Given the description of an element on the screen output the (x, y) to click on. 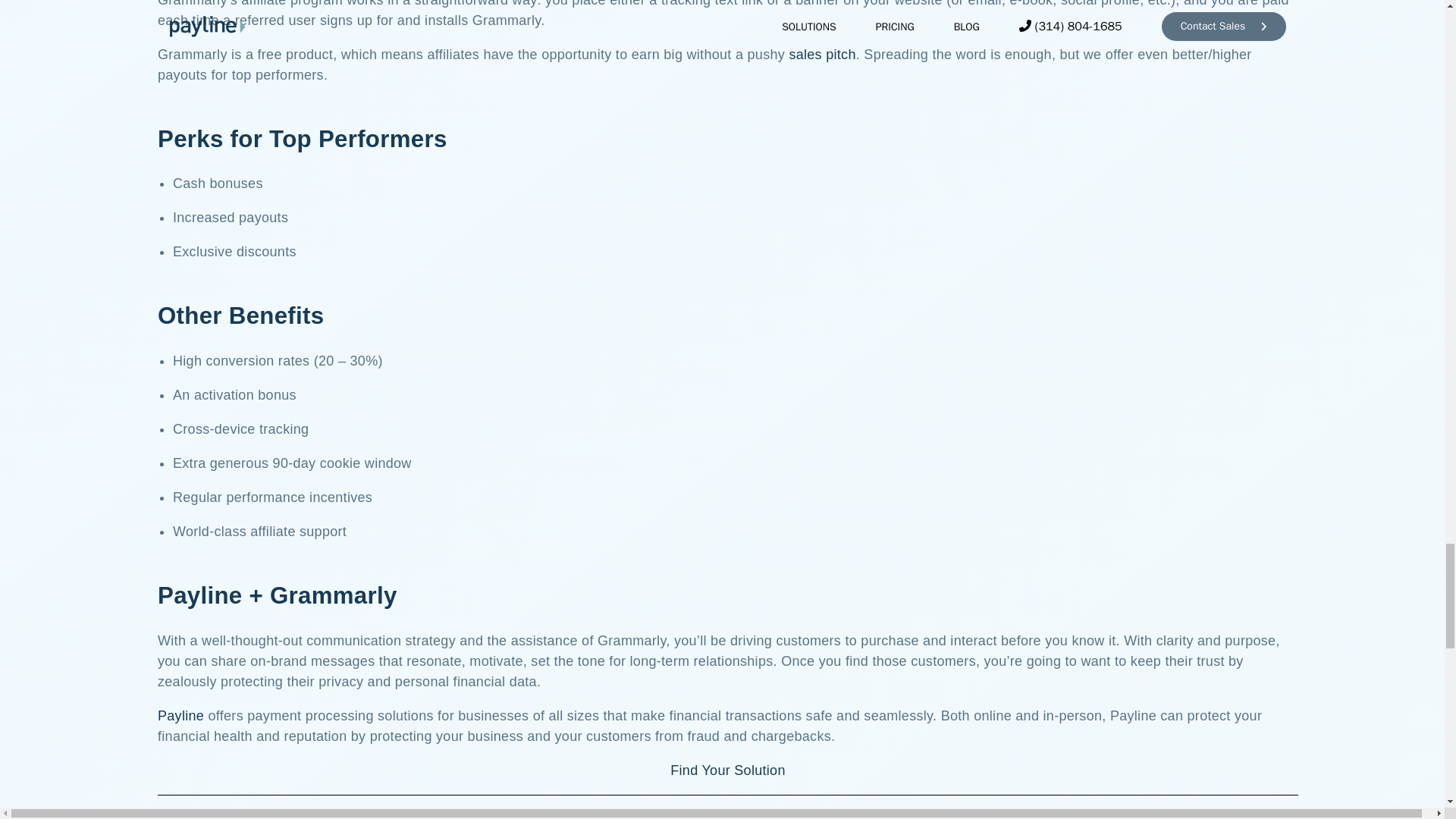
Facebook (699, 815)
LinkedIn (830, 815)
Find Your Solution (727, 770)
Twitter (758, 815)
Payline (180, 715)
sales pitch (822, 54)
